Given the description of an element on the screen output the (x, y) to click on. 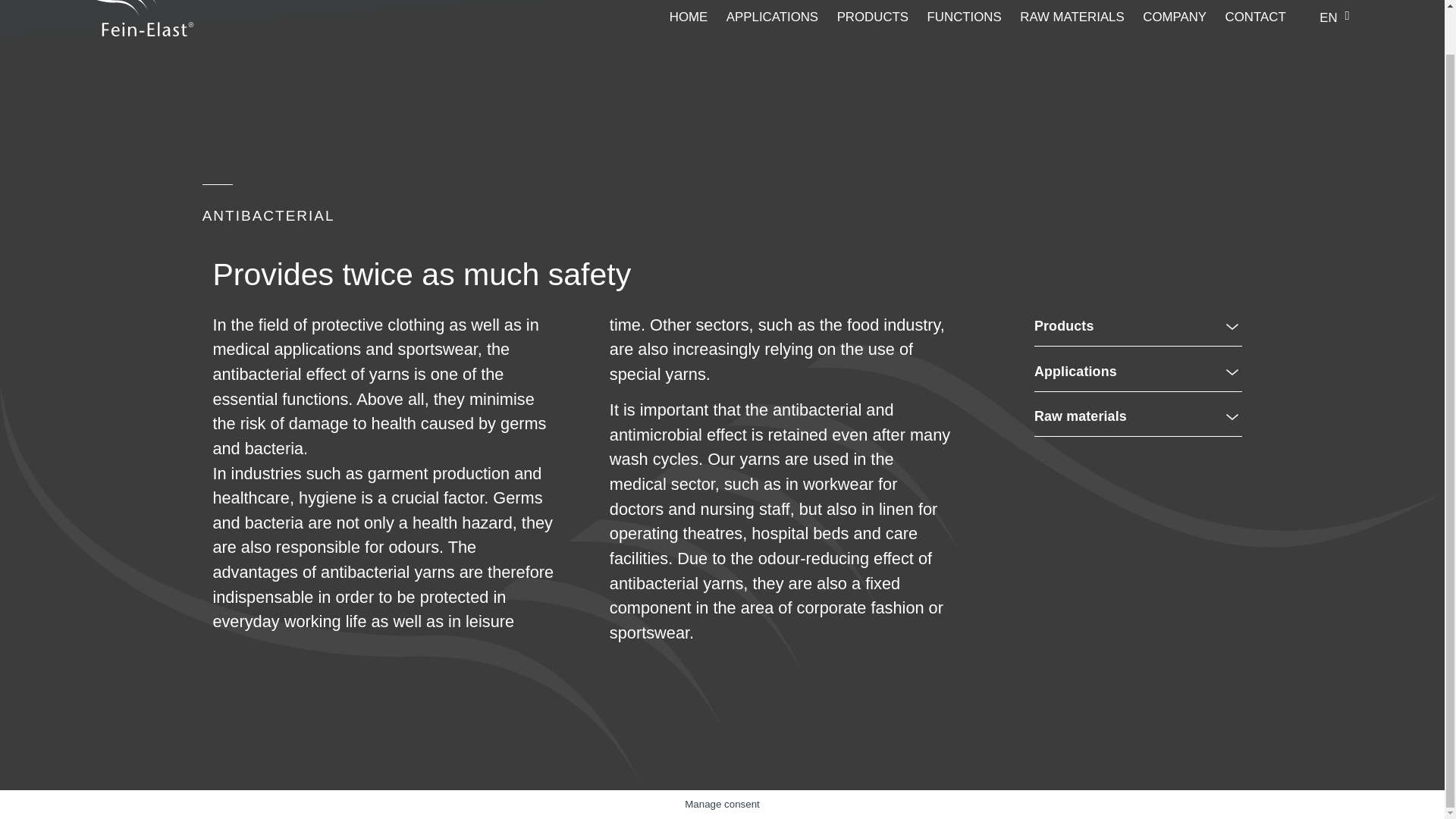
HOME (688, 17)
EN (1330, 22)
CONTACT (1255, 17)
RAW MATERIALS (1072, 17)
FUNCTIONS (964, 17)
Products (1063, 326)
Applications (1074, 372)
PRODUCTS (872, 17)
COMPANY (1174, 17)
Raw materials (1079, 417)
